Given the description of an element on the screen output the (x, y) to click on. 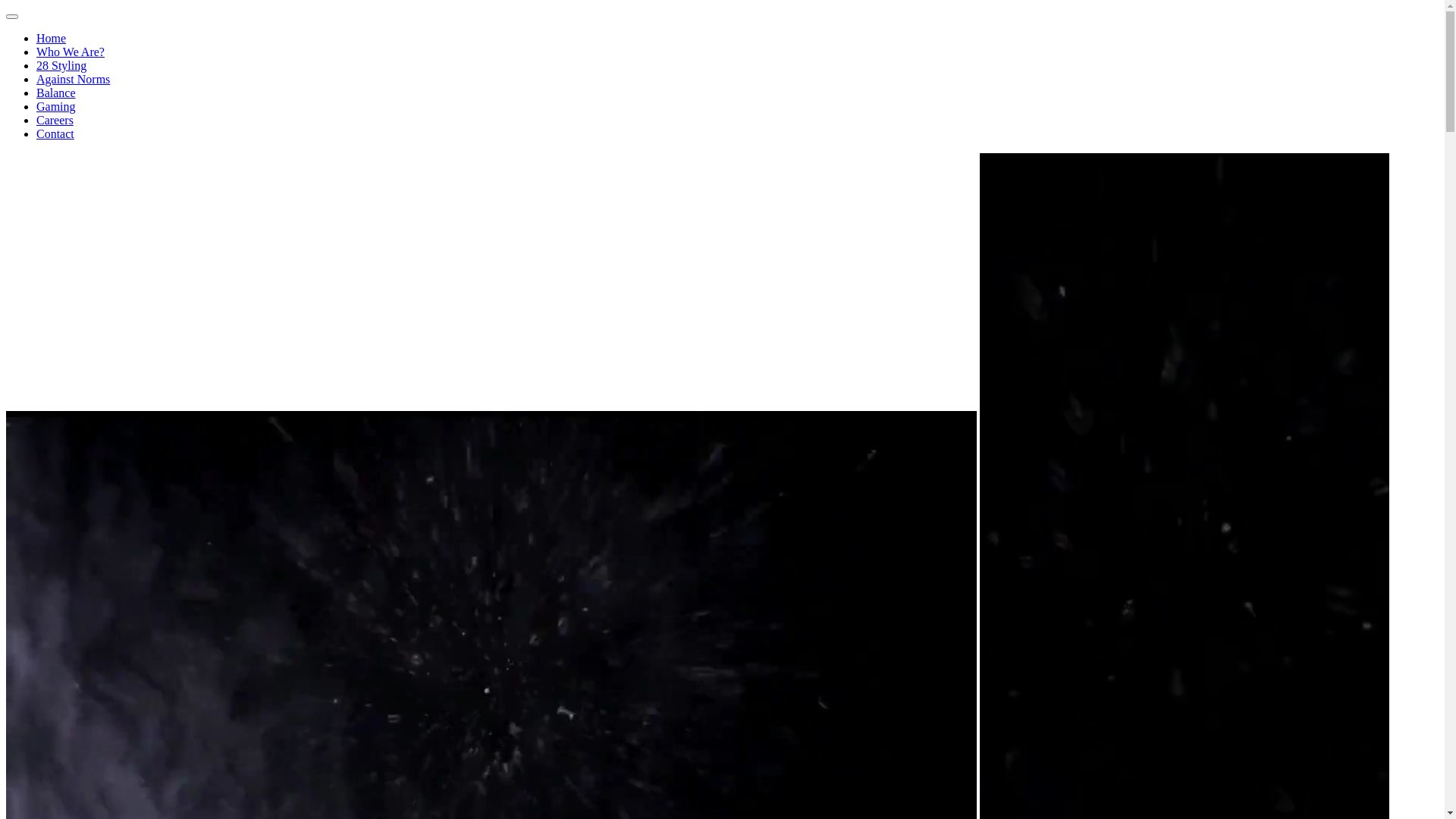
Contact Element type: text (55, 133)
Against Norms Element type: text (72, 78)
Home Element type: text (50, 37)
Careers Element type: text (54, 119)
28 Styling Element type: text (61, 65)
Balance Element type: text (55, 92)
Who We Are? Element type: text (70, 51)
Gaming Element type: text (55, 106)
